Given the description of an element on the screen output the (x, y) to click on. 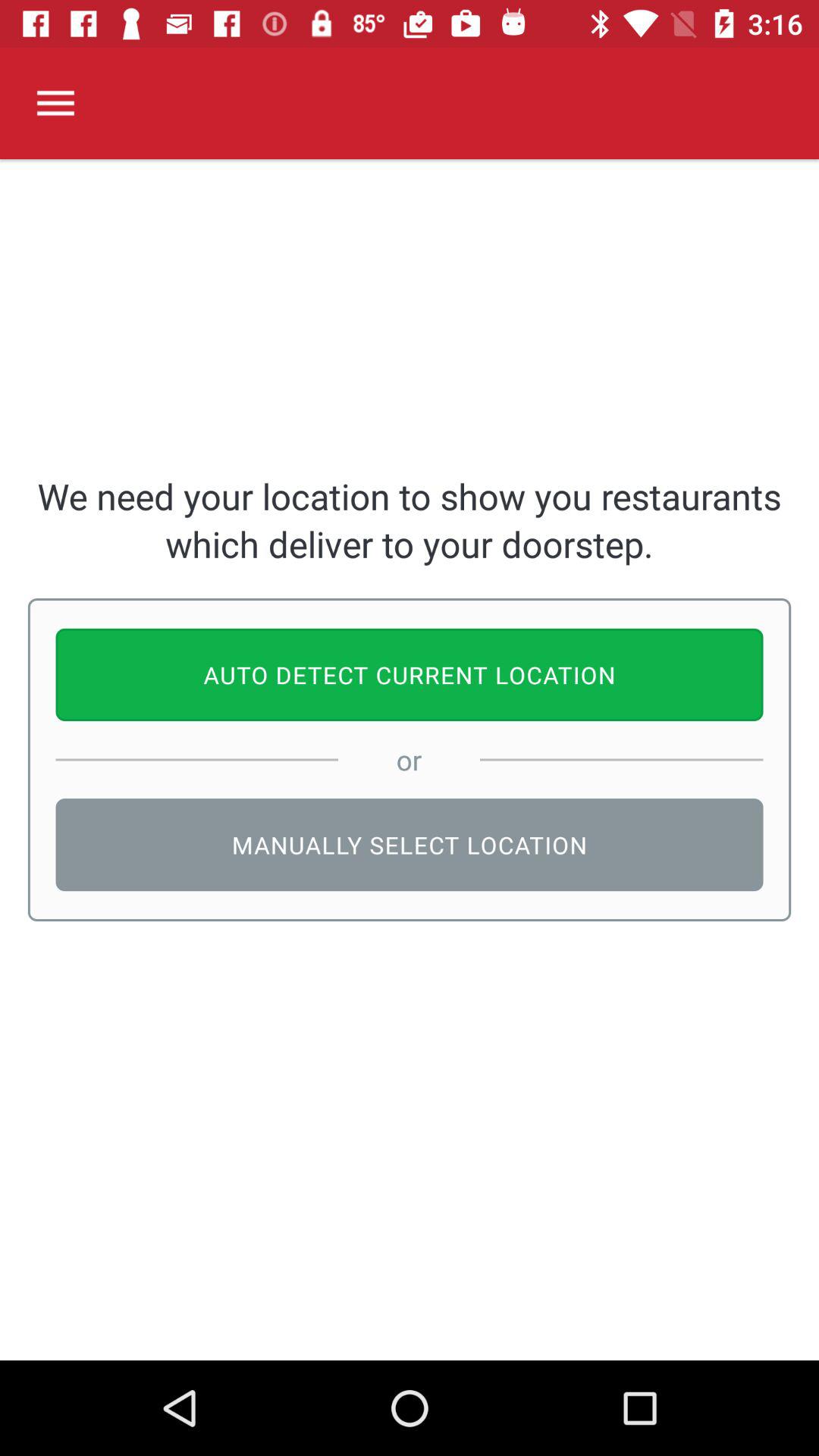
turn off the icon above or (409, 674)
